Given the description of an element on the screen output the (x, y) to click on. 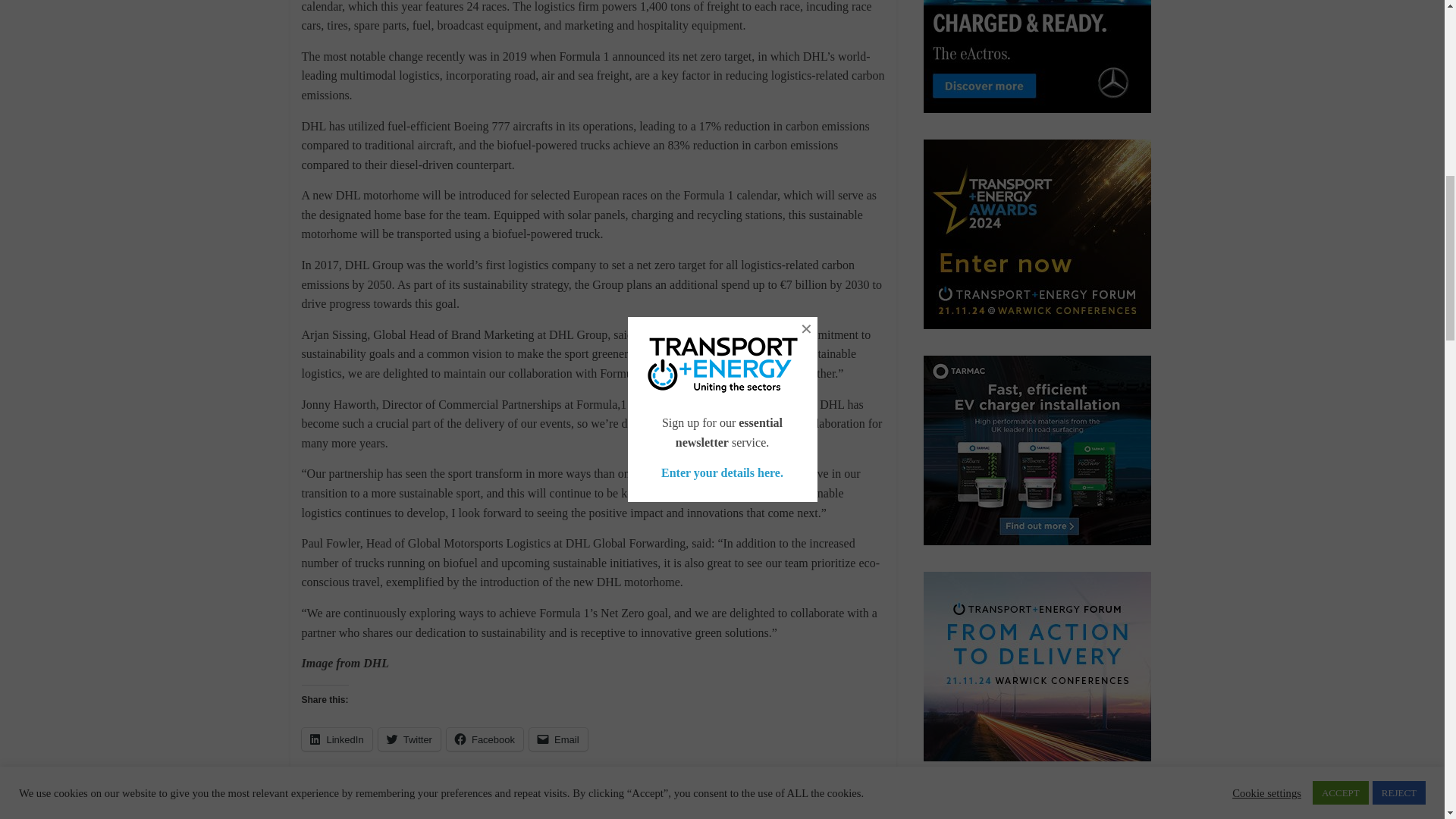
Click to share on Facebook (484, 739)
Click to share on Twitter (409, 739)
Click to email a link to a friend (558, 739)
Click to share on LinkedIn (336, 739)
